Given the description of an element on the screen output the (x, y) to click on. 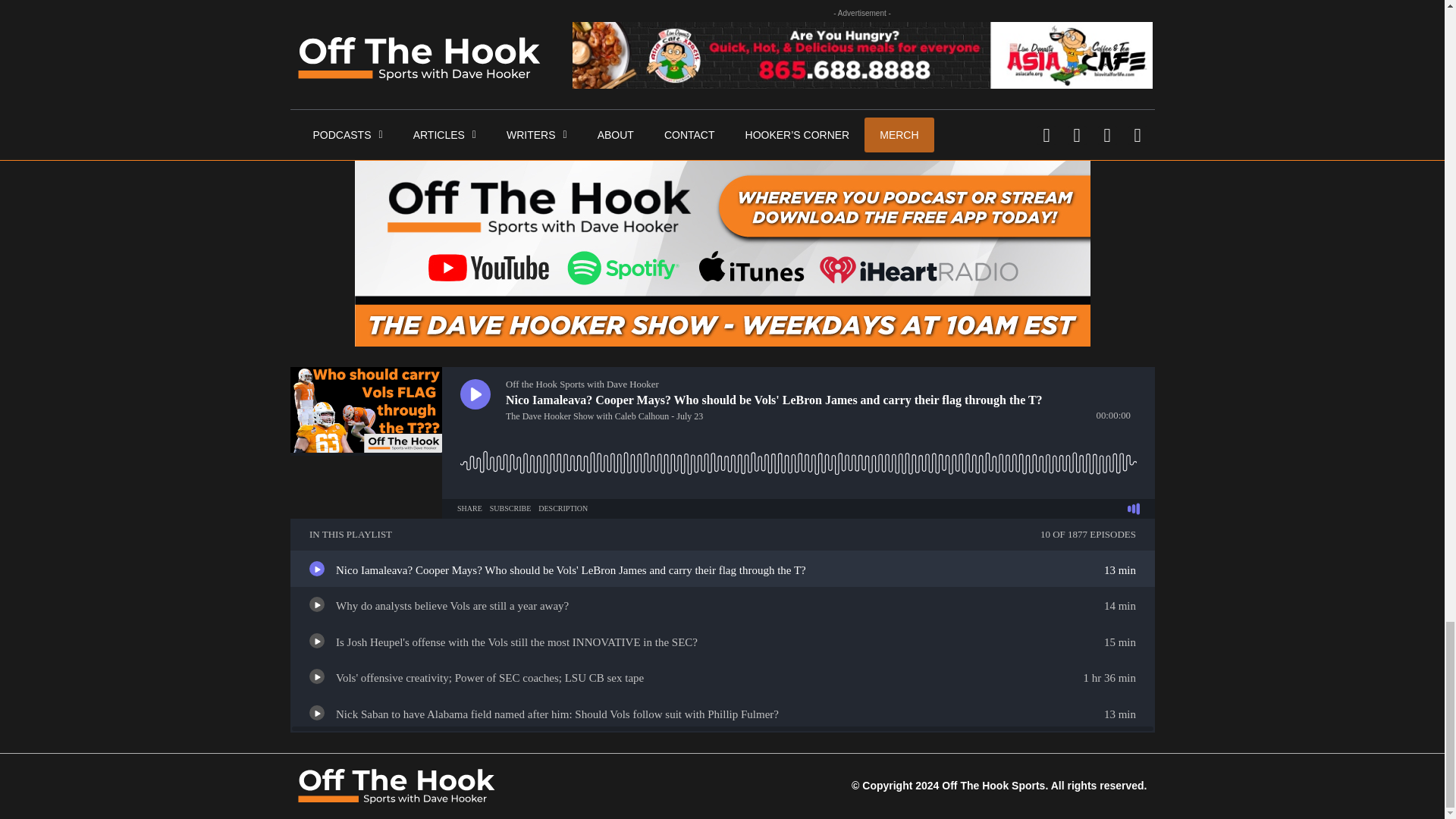
Post Comment (356, 46)
yes (302, 9)
